Given the description of an element on the screen output the (x, y) to click on. 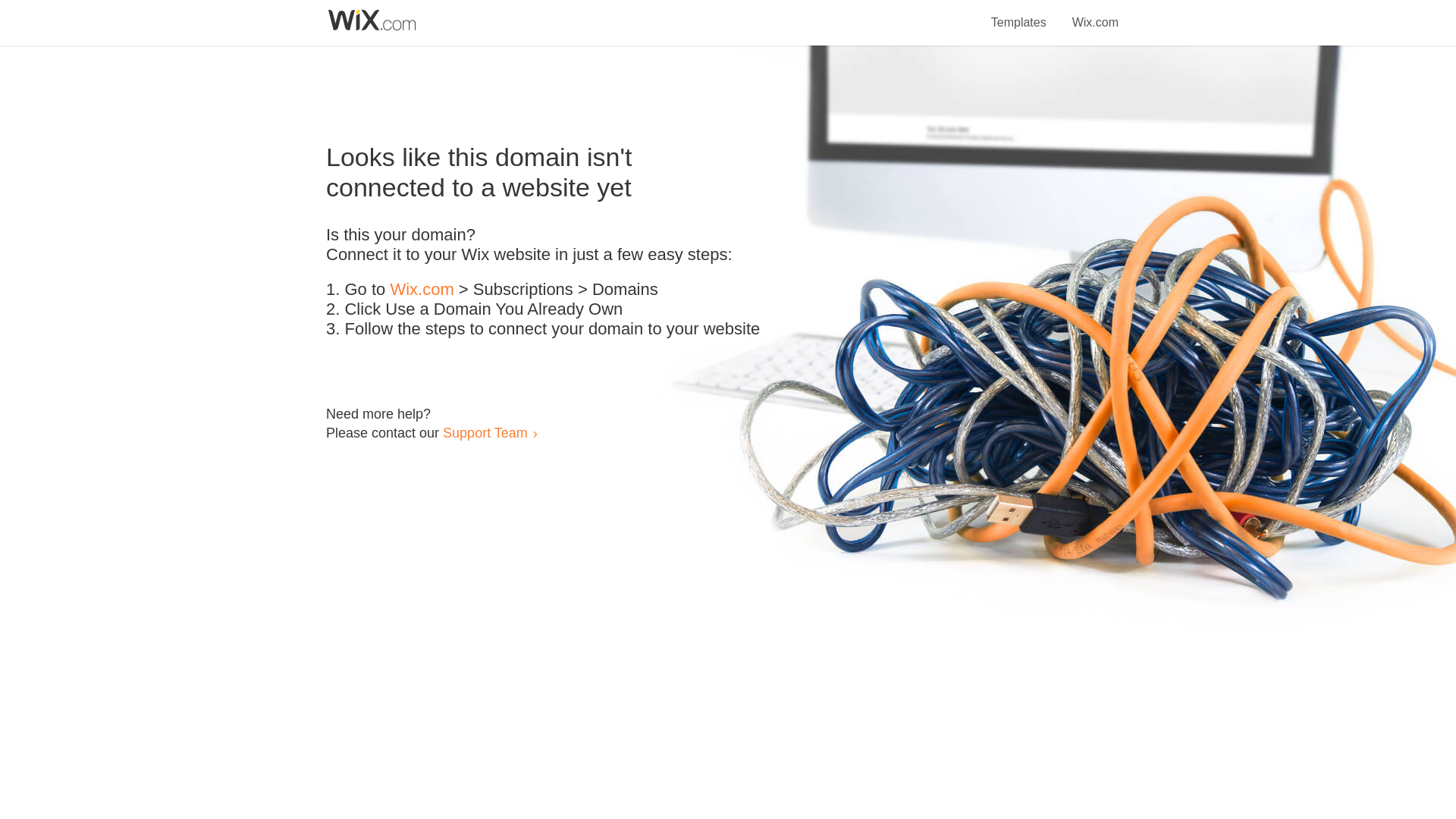
Wix.com (1095, 14)
Templates (1018, 14)
Support Team (484, 432)
Wix.com (421, 289)
